Given the description of an element on the screen output the (x, y) to click on. 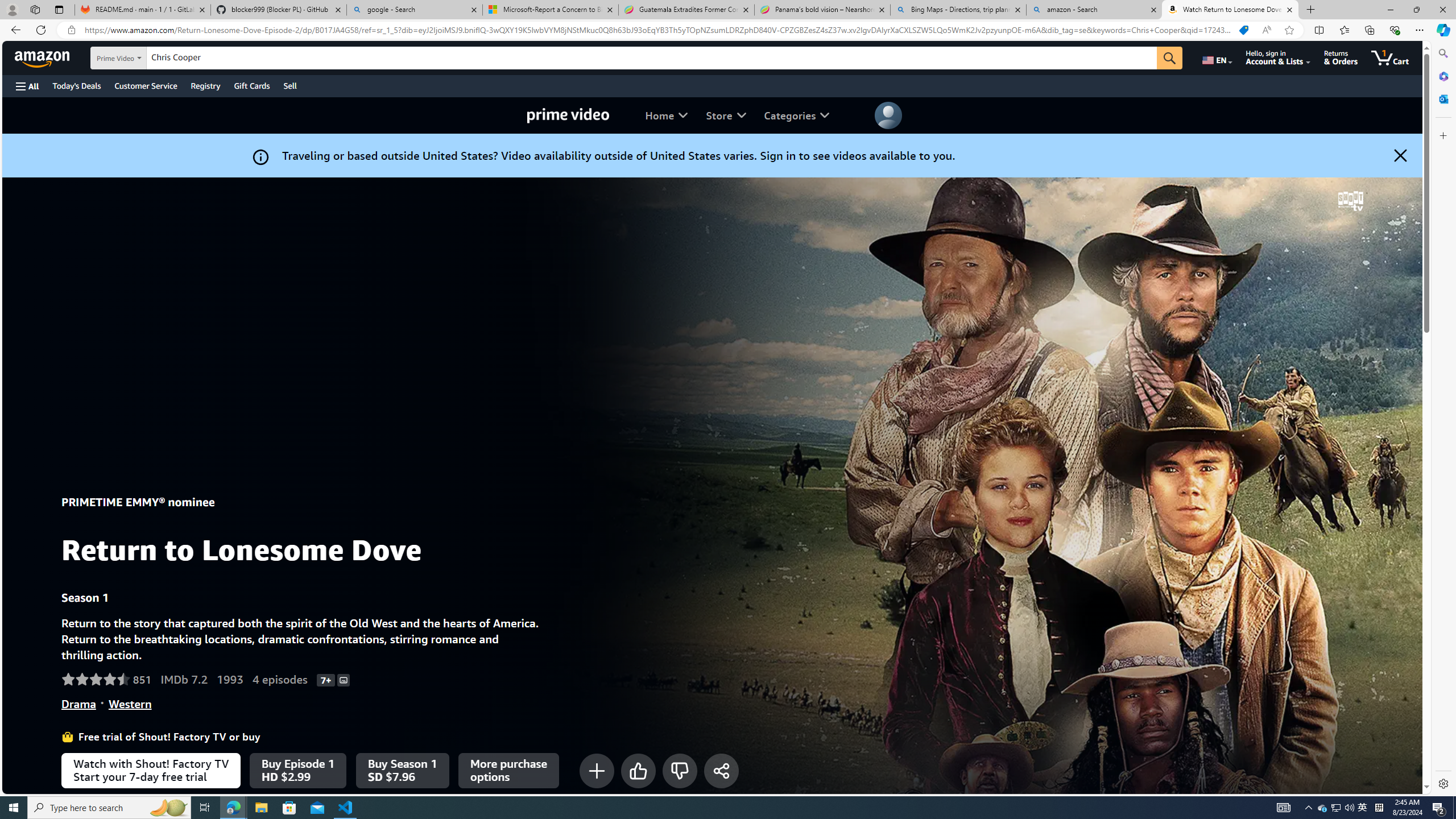
Store (726, 115)
Hello, sign in Account & Lists (1278, 57)
google - Search (414, 9)
Subtitles (343, 679)
Search Amazon (652, 57)
Prime Video (567, 115)
Home (666, 115)
Buy Season 1 SD $7.96 (402, 769)
